Given the description of an element on the screen output the (x, y) to click on. 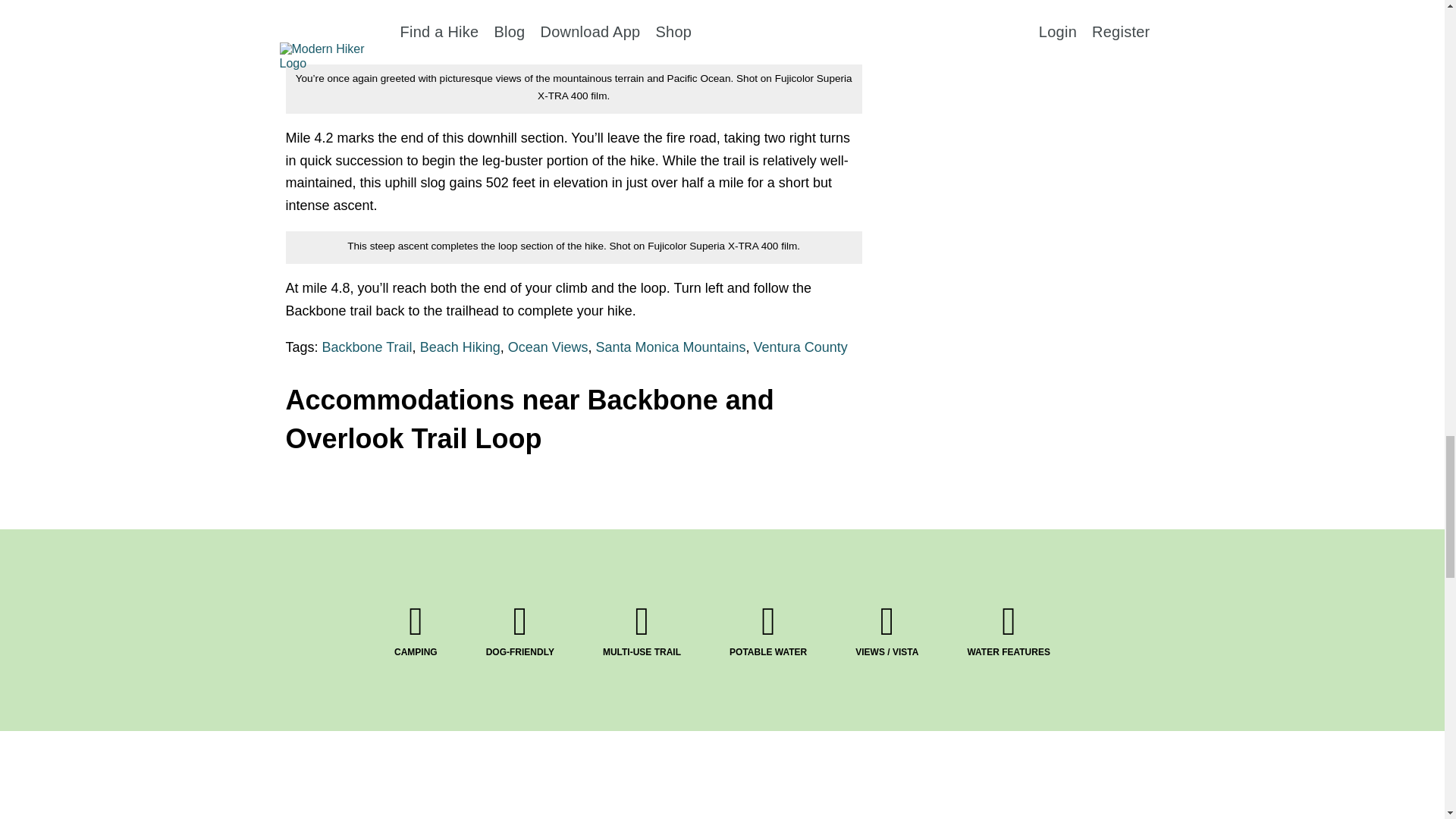
Backbone Trail (366, 346)
Santa Monica Mountains (670, 346)
Ventura County (800, 346)
Ocean Views (548, 346)
Beach Hiking (460, 346)
